Given the description of an element on the screen output the (x, y) to click on. 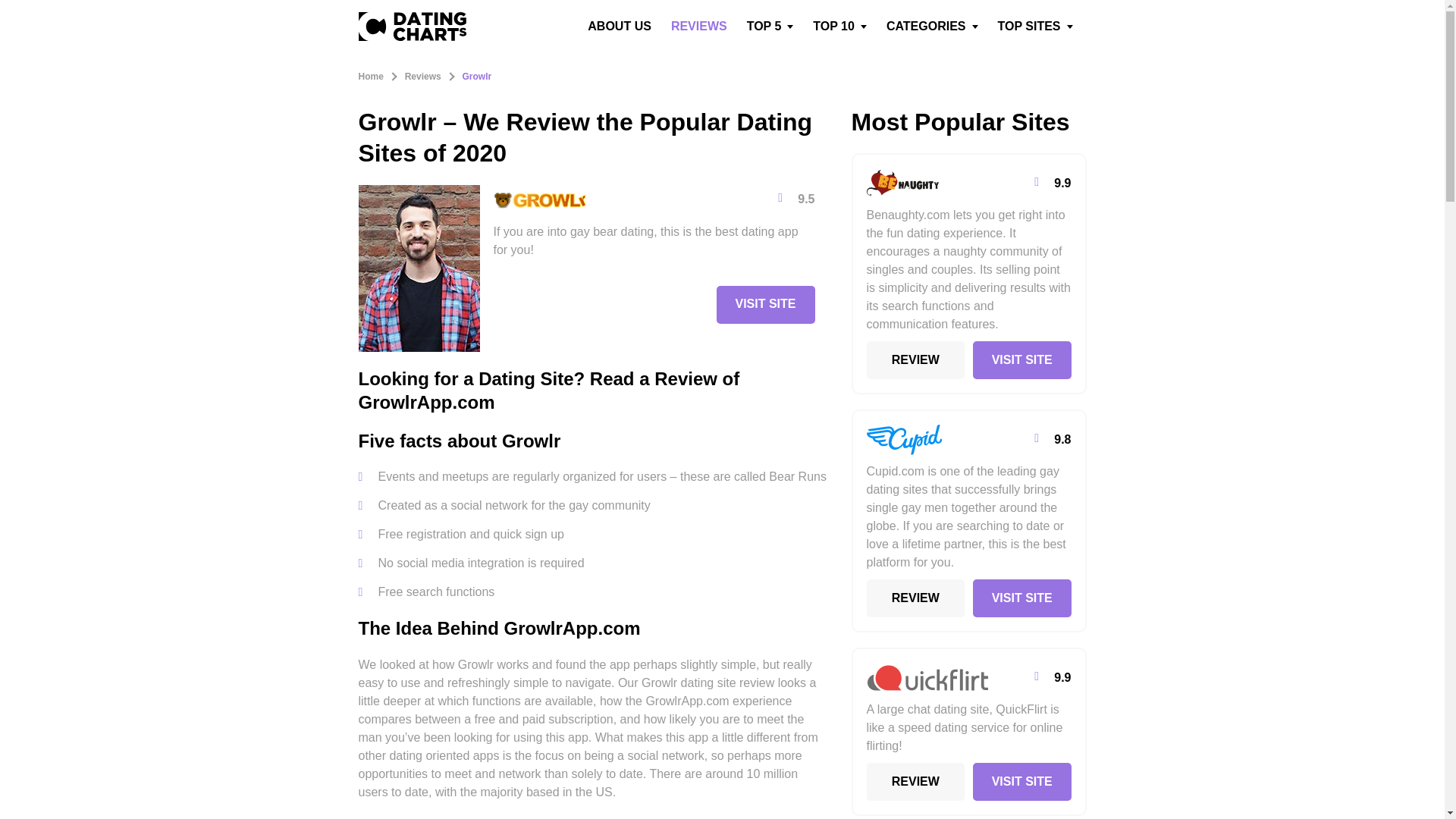
REVIEW (914, 360)
VISIT SITE (764, 304)
VISIT SITE (1021, 598)
Home (370, 77)
ABOUT US (619, 26)
Reviews (422, 77)
VISIT SITE (1021, 360)
REVIEWS (699, 26)
REVIEW (914, 598)
